Given the description of an element on the screen output the (x, y) to click on. 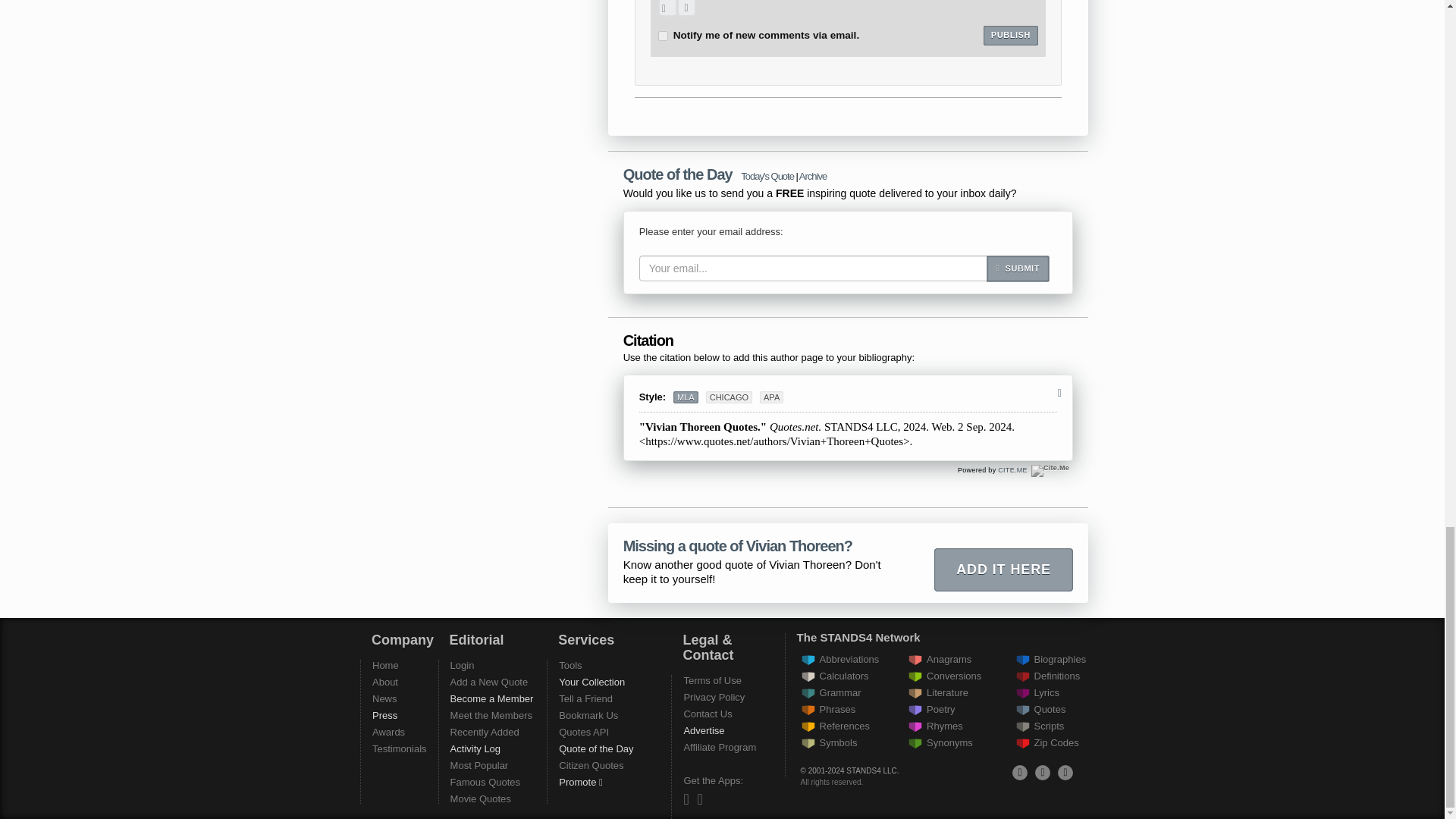
Cite.Me (1049, 470)
Record a sound (686, 8)
Upload an image (667, 8)
Cite.Me (1050, 470)
Cite.Me (1012, 470)
on (663, 35)
